Given the description of an element on the screen output the (x, y) to click on. 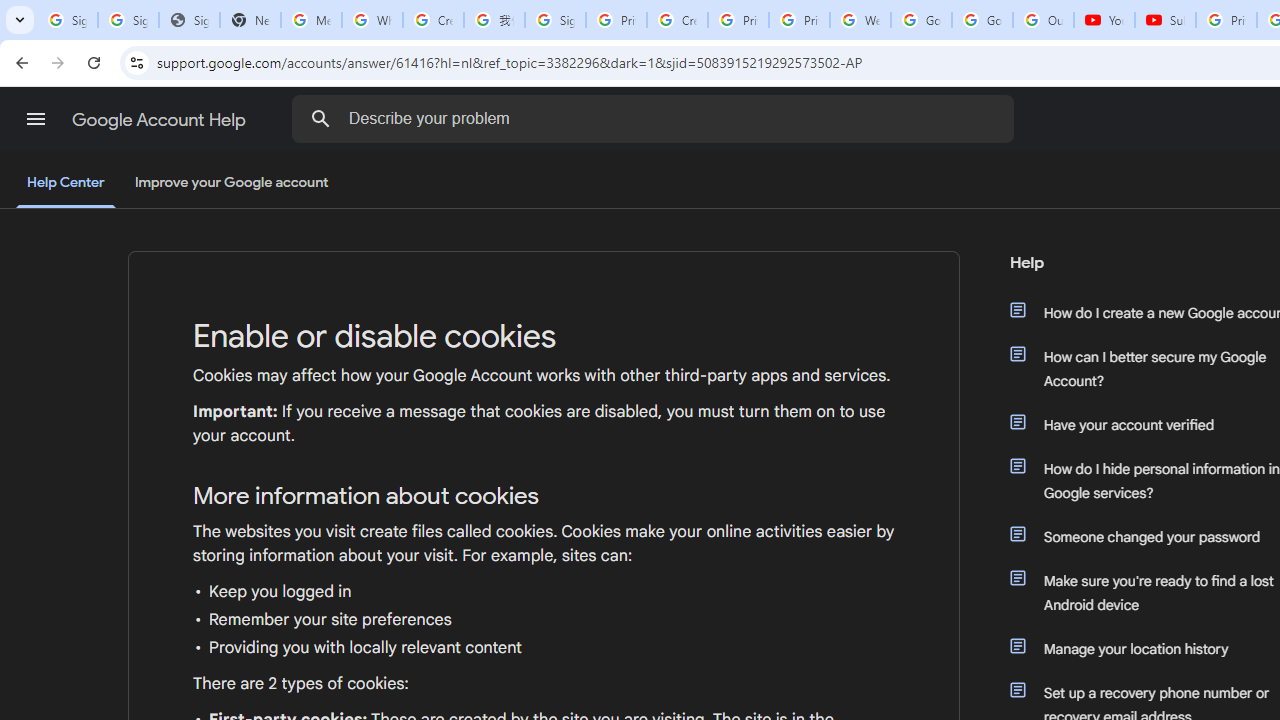
Help Center (65, 183)
Google Account (982, 20)
Search the Help Center (320, 118)
Sign In - USA TODAY (189, 20)
Sign in - Google Accounts (555, 20)
Google Account Help (160, 119)
Improve your Google account (231, 183)
Who is my administrator? - Google Account Help (372, 20)
